Given the description of an element on the screen output the (x, y) to click on. 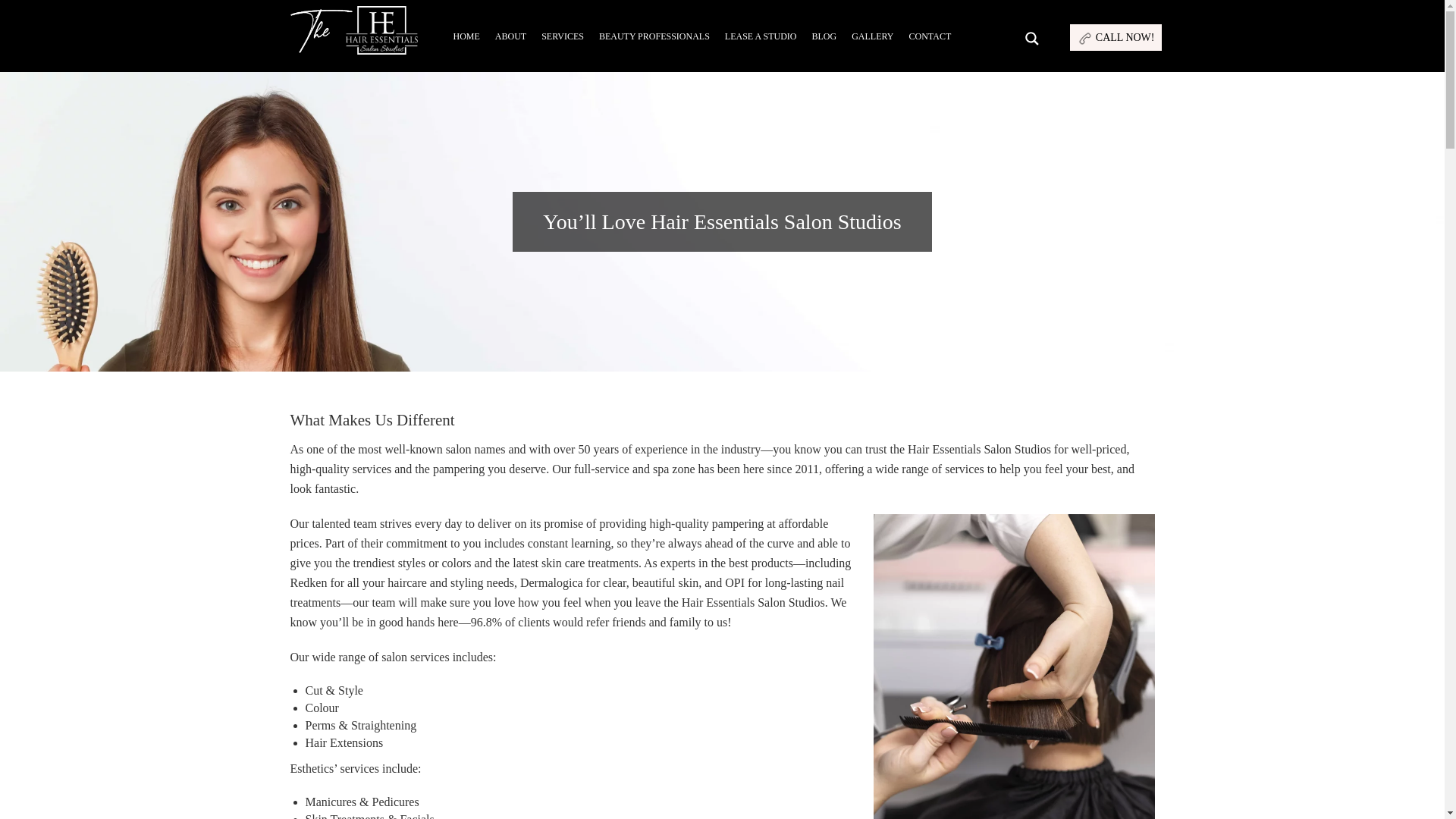
CALL NOW! (1115, 37)
LEASE A STUDIO (760, 36)
HOME (466, 36)
GALLERY (872, 36)
ABOUT (510, 36)
SERVICES (562, 36)
BLOG (822, 36)
BEAUTY PROFESSIONALS (654, 36)
CONTACT (930, 36)
